Given the description of an element on the screen output the (x, y) to click on. 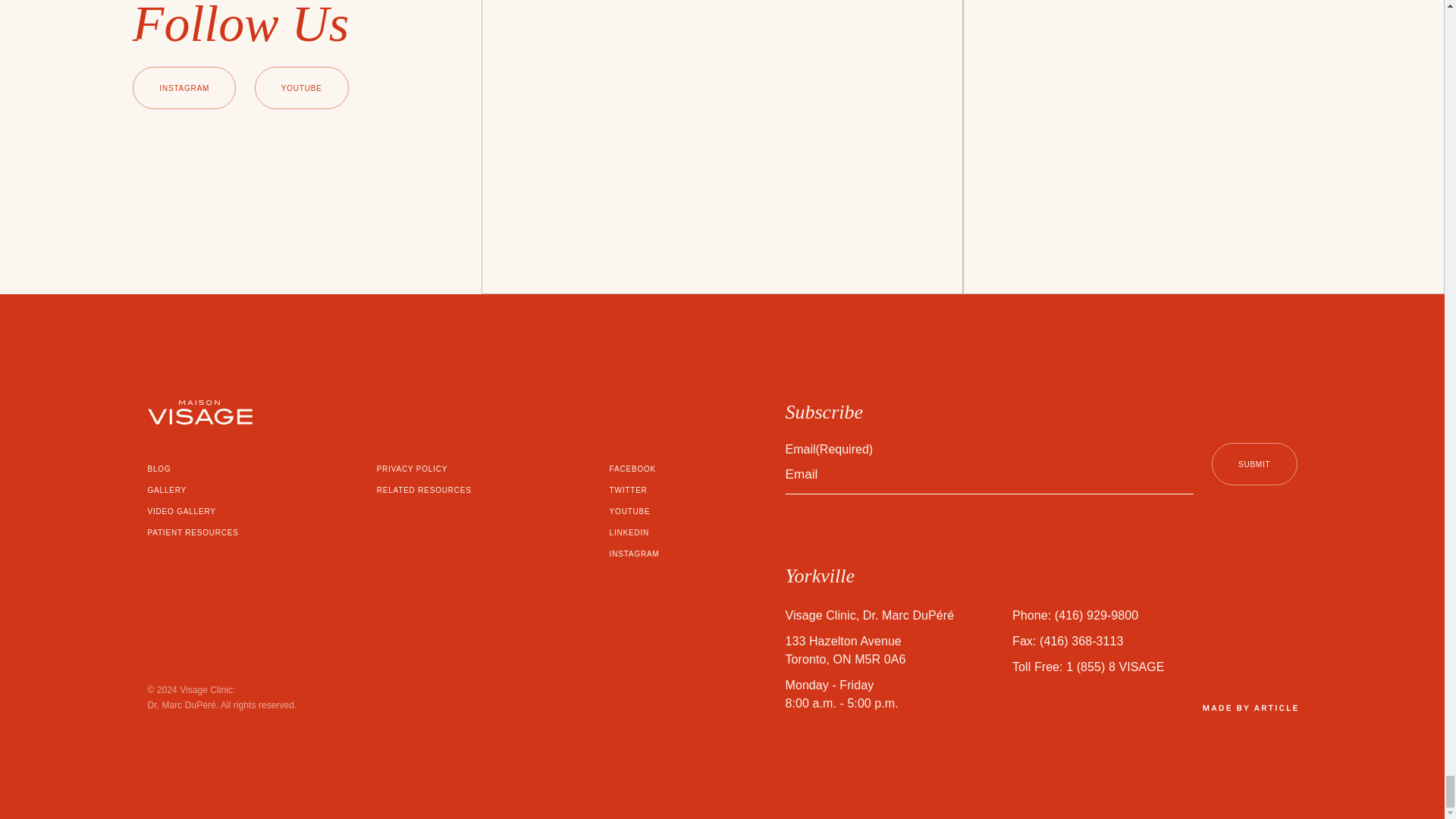
Submit (1254, 464)
